Given the description of an element on the screen output the (x, y) to click on. 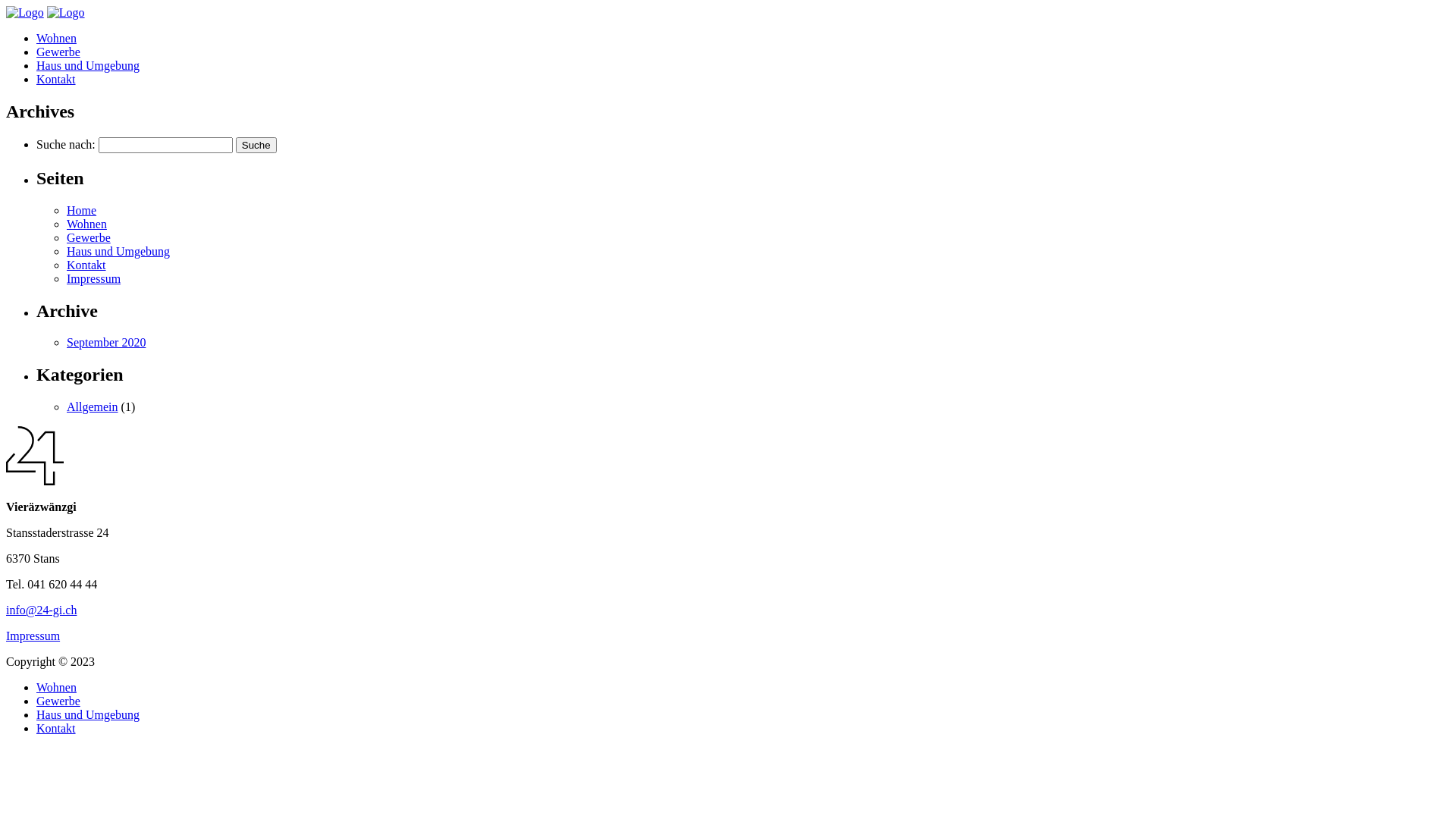
Wohnen Element type: text (56, 37)
Impressum Element type: text (93, 278)
Gewerbe Element type: text (58, 700)
Impressum Element type: text (32, 635)
Home Element type: text (81, 209)
Kontakt Element type: text (55, 727)
September 2020 Element type: text (105, 341)
Haus und Umgebung Element type: text (87, 65)
Haus und Umgebung Element type: text (117, 250)
Kontakt Element type: text (55, 78)
Gewerbe Element type: text (58, 51)
info@24-gi.ch Element type: text (41, 609)
Gewerbe Element type: text (88, 237)
Kontakt Element type: text (86, 264)
Wohnen Element type: text (56, 686)
Suche Element type: text (255, 145)
Wohnen Element type: text (86, 223)
Allgemein Element type: text (92, 406)
Haus und Umgebung Element type: text (87, 714)
